Given the description of an element on the screen output the (x, y) to click on. 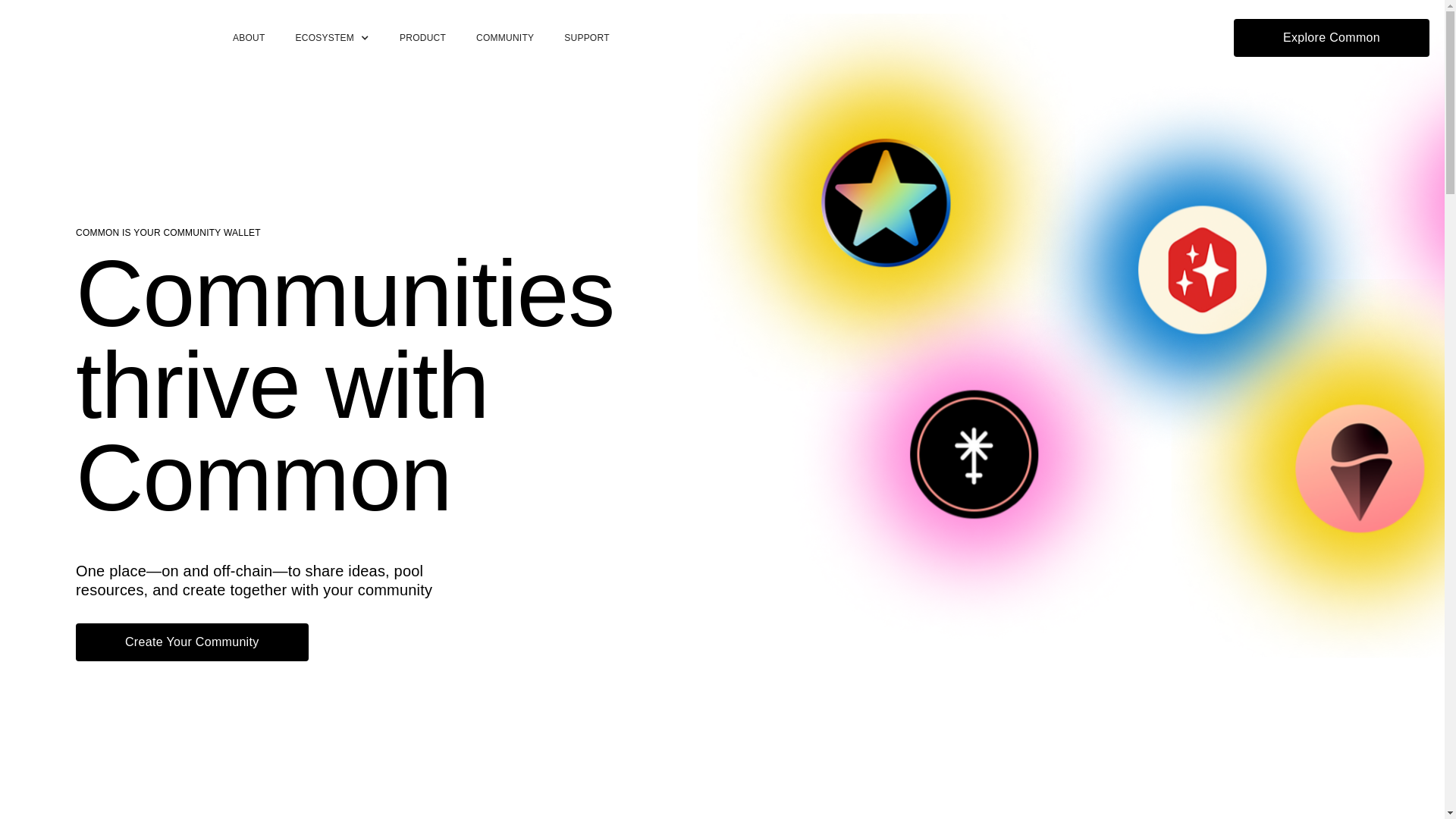
COMMUNITY (504, 37)
Create Your Community (191, 641)
ABOUT (248, 37)
PRODUCT (422, 37)
Explore Common (1331, 37)
SUPPORT (586, 37)
